Given the description of an element on the screen output the (x, y) to click on. 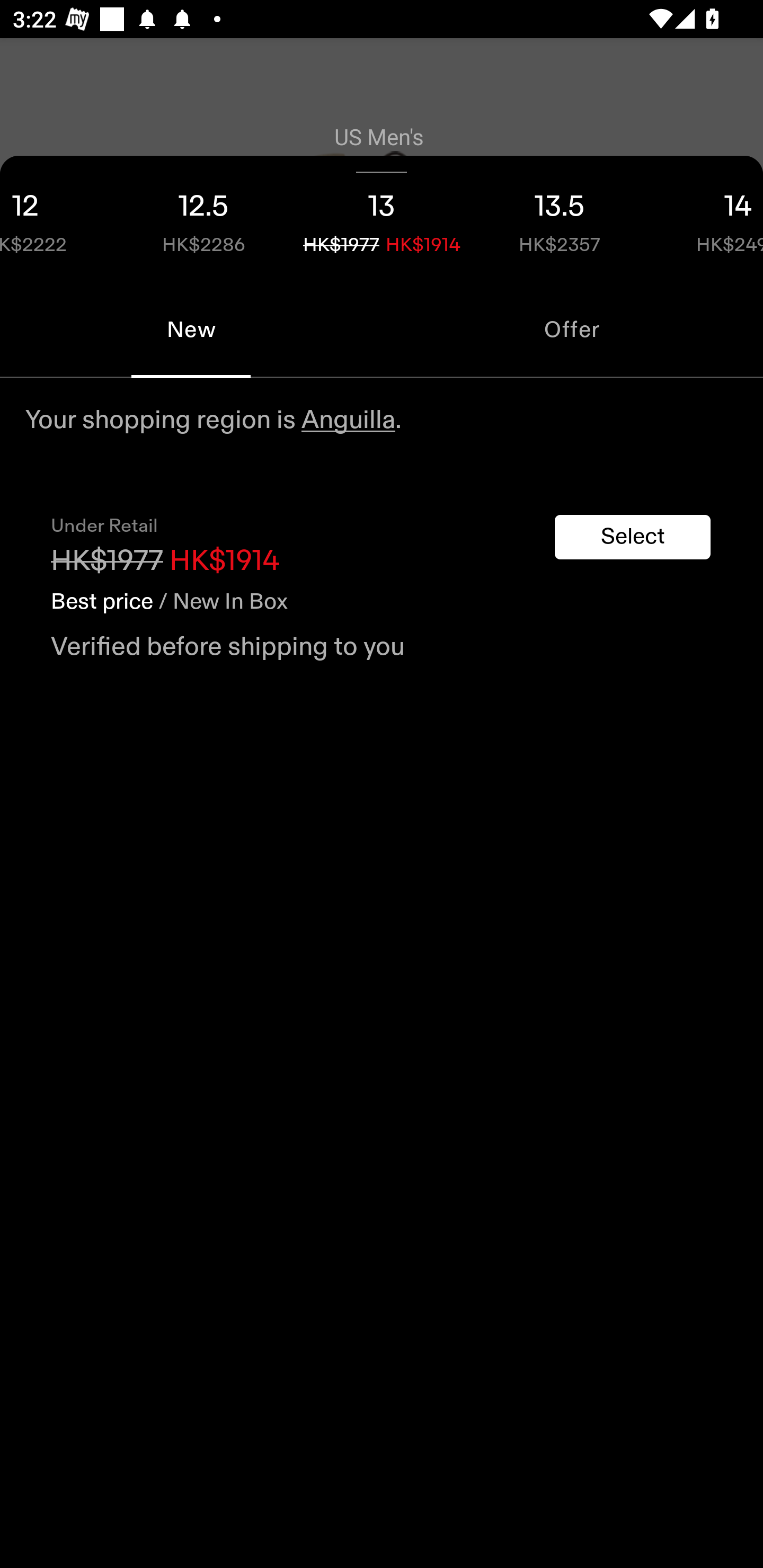
12 HK$2222 (57, 218)
12.5 HK$2286 (203, 218)
13 HK$1977 HK$1914 (381, 218)
13.5 HK$2357 (559, 218)
14 HK$2499 (705, 218)
Offer (572, 329)
Select (632, 536)
